Given the description of an element on the screen output the (x, y) to click on. 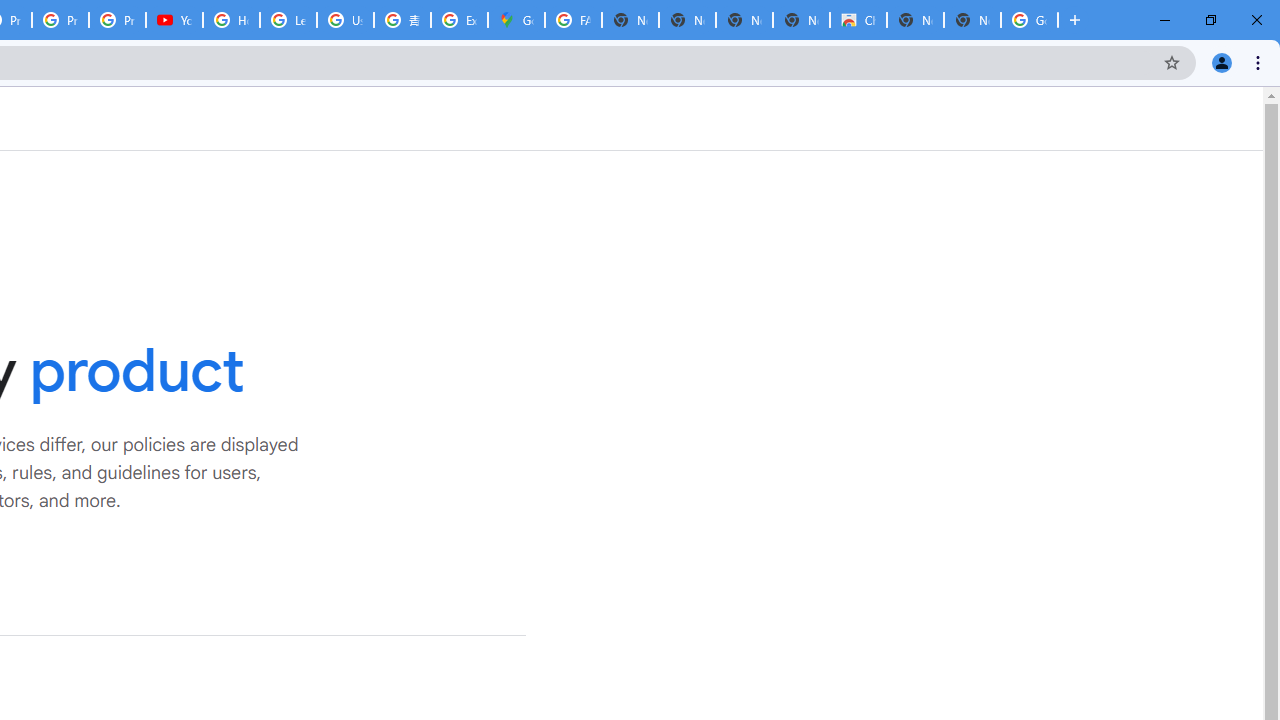
YouTube (174, 20)
Google Images (1029, 20)
New Tab (971, 20)
Google Maps (516, 20)
Privacy Checkup (60, 20)
Privacy Checkup (116, 20)
Explore new street-level details - Google Maps Help (459, 20)
Chrome Web Store (858, 20)
